Given the description of an element on the screen output the (x, y) to click on. 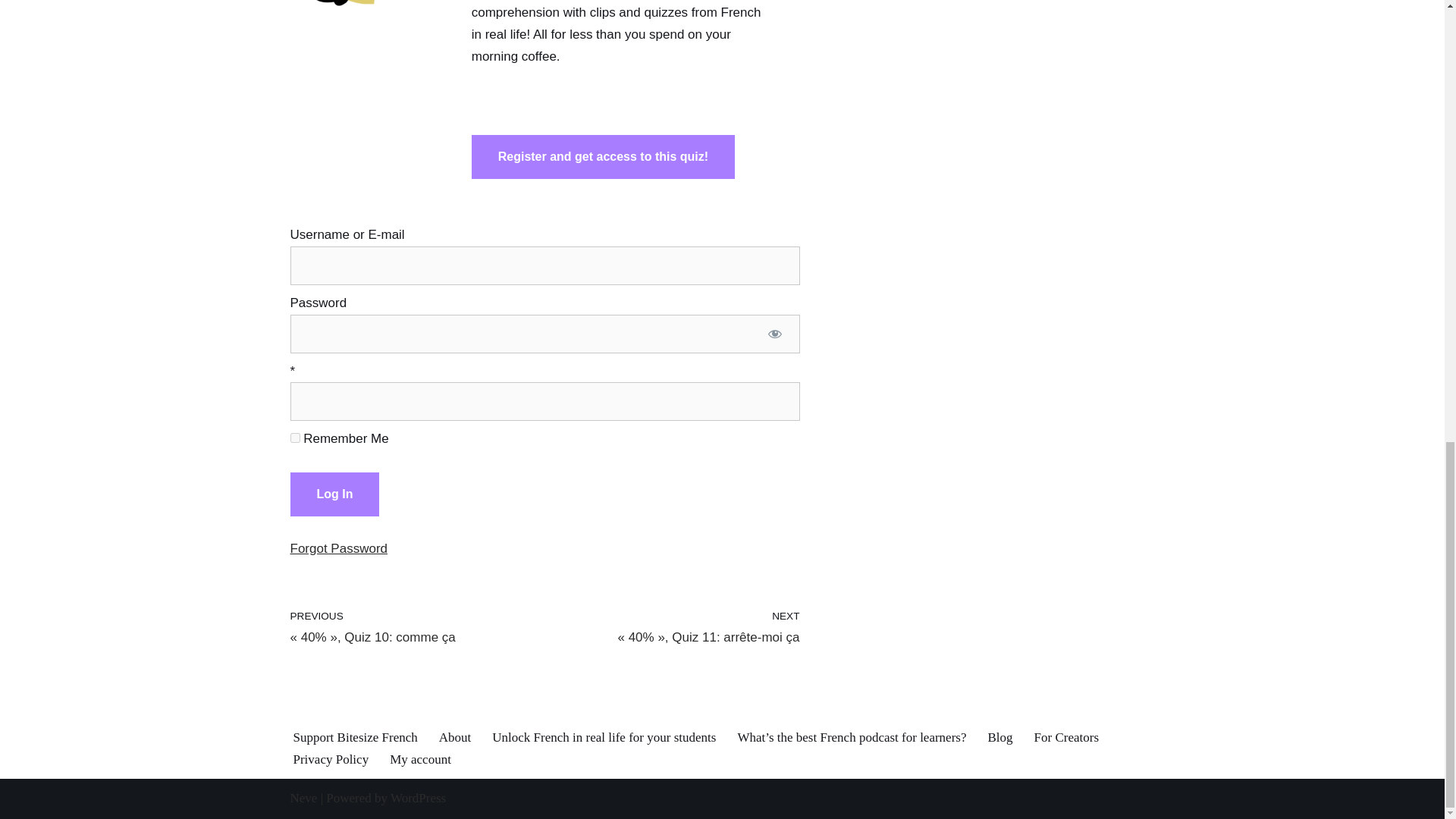
Log In (333, 494)
Blog (999, 736)
forever (294, 438)
Neve (303, 798)
Privacy Policy (330, 758)
Log In (333, 494)
Support Bitesize French (354, 736)
WordPress (417, 798)
Unlock French in real life for your students (604, 736)
My account (420, 758)
About (455, 736)
Forgot Password (338, 548)
Register and get access to this quiz! (603, 157)
For Creators (1066, 736)
